Given the description of an element on the screen output the (x, y) to click on. 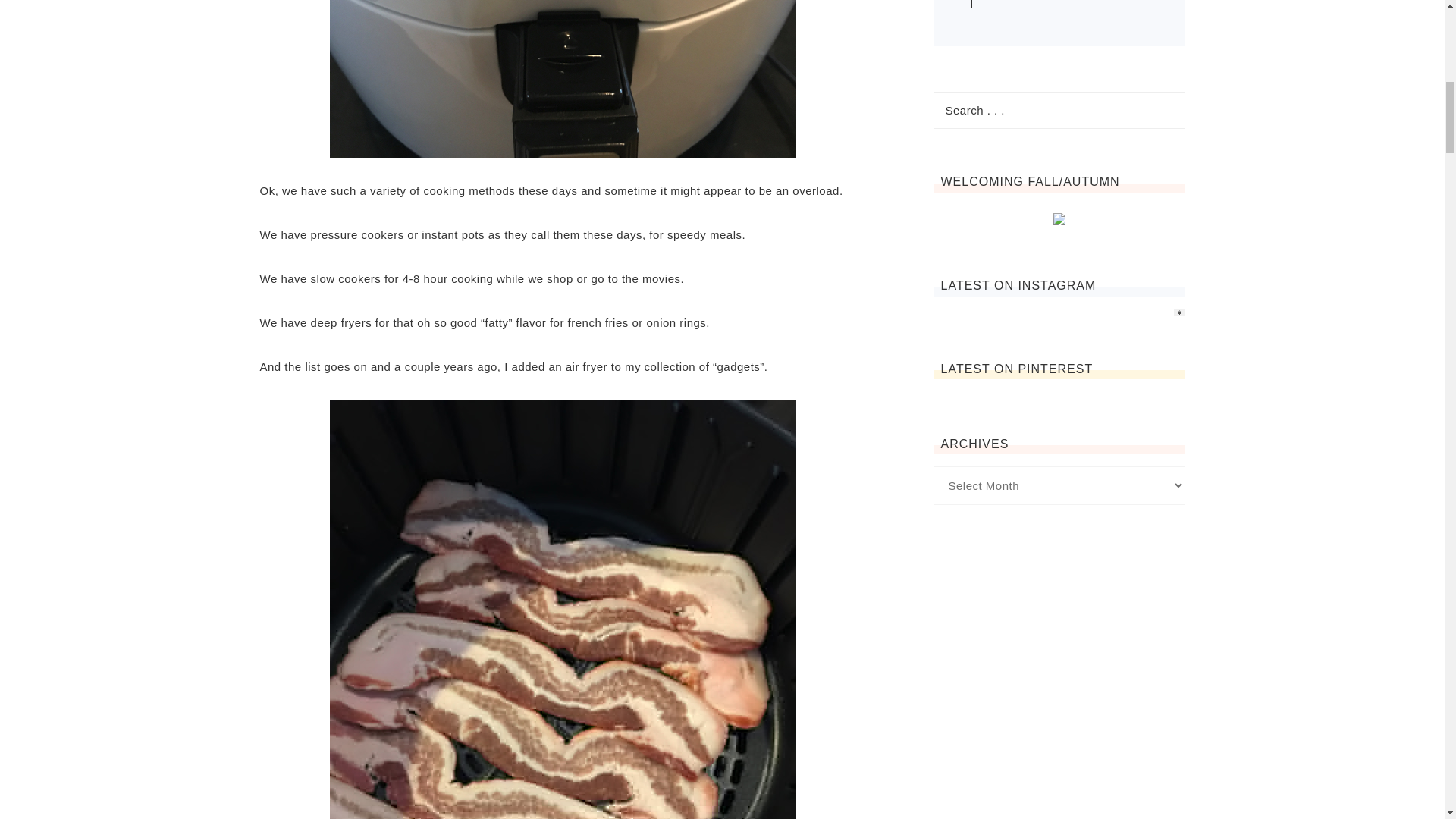
Go (1059, 4)
